Given the description of an element on the screen output the (x, y) to click on. 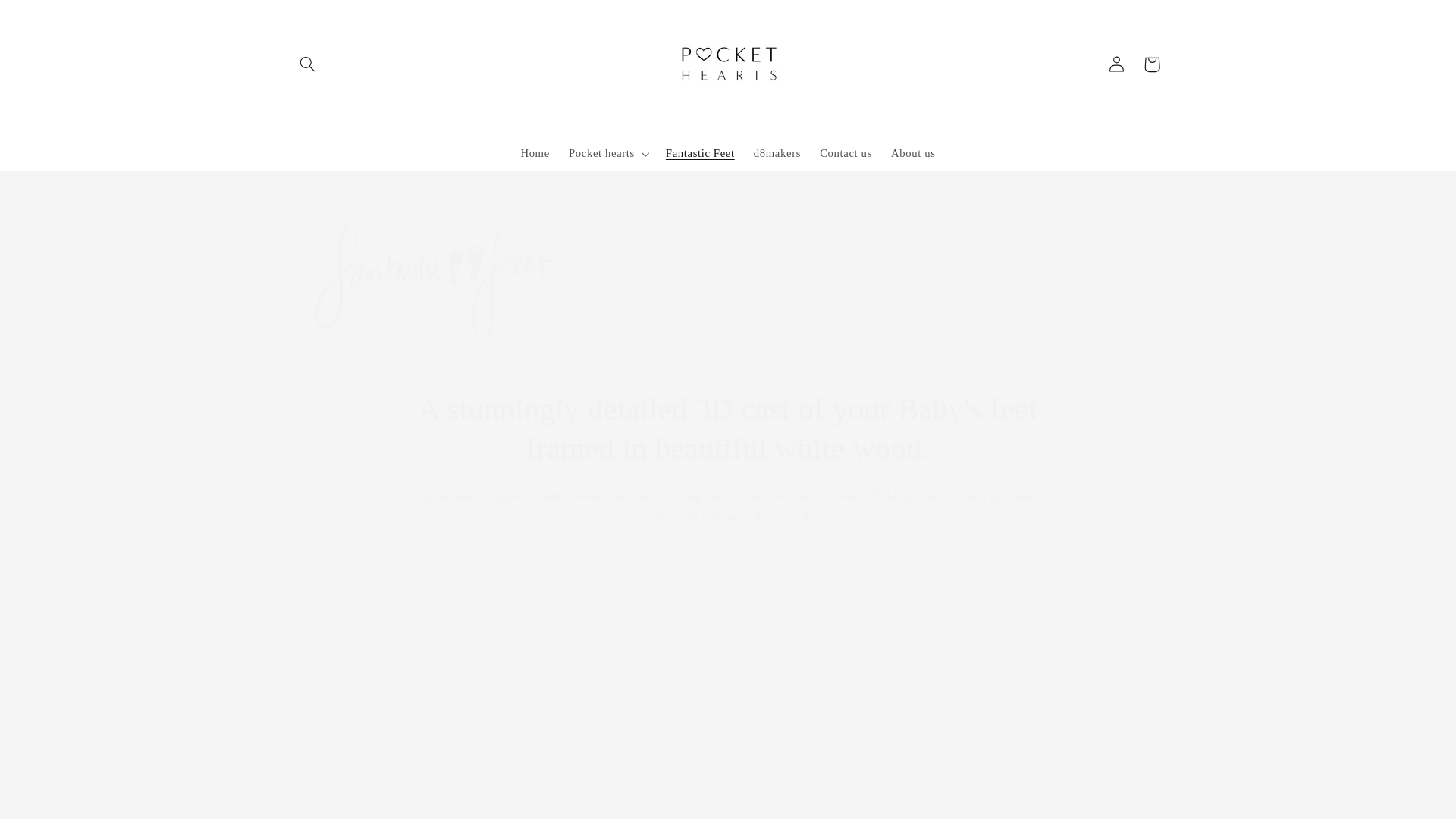
Fantastic Feet (700, 153)
d8makers (776, 153)
About us (912, 153)
Skip to content (48, 18)
Log in (1116, 63)
Contact us (846, 153)
Home (535, 153)
Cart (1151, 63)
